Given the description of an element on the screen output the (x, y) to click on. 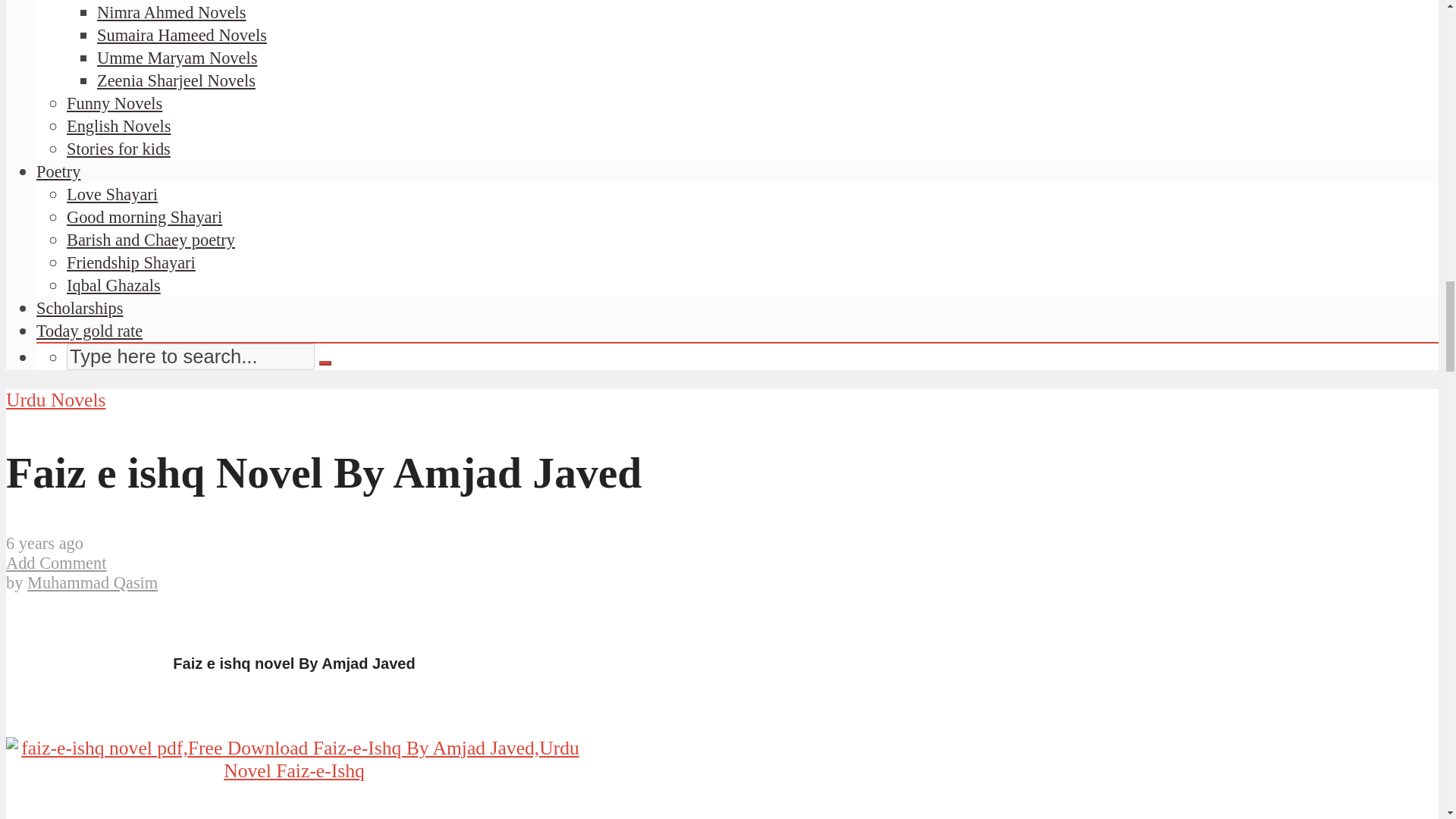
Faiz-e-Ishq Pdf (293, 759)
Type here to search... (190, 356)
Type here to search... (190, 356)
